Given the description of an element on the screen output the (x, y) to click on. 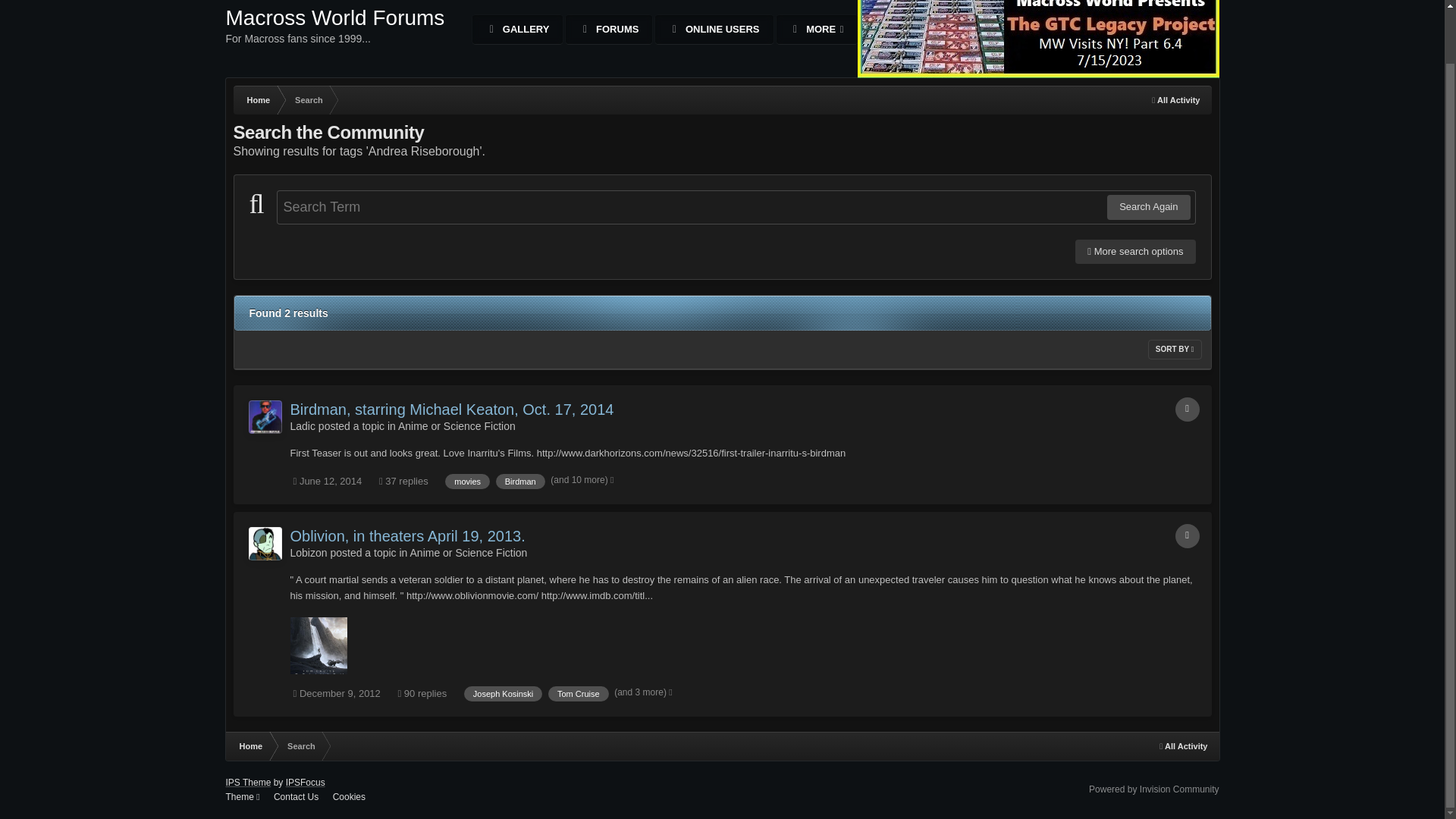
MORE (816, 29)
Find other content tagged with 'movies' (467, 481)
Search Again (1147, 206)
GALLERY (516, 29)
FORUMS (609, 29)
Find other content tagged with 'Birdman' (335, 35)
Home (520, 481)
Go to Ladic's profile (257, 99)
Home (265, 417)
All Activity (257, 99)
Go to Ladic's profile (1175, 99)
More search options (301, 426)
Topic (1135, 251)
ONLINE USERS (1186, 409)
